Given the description of an element on the screen output the (x, y) to click on. 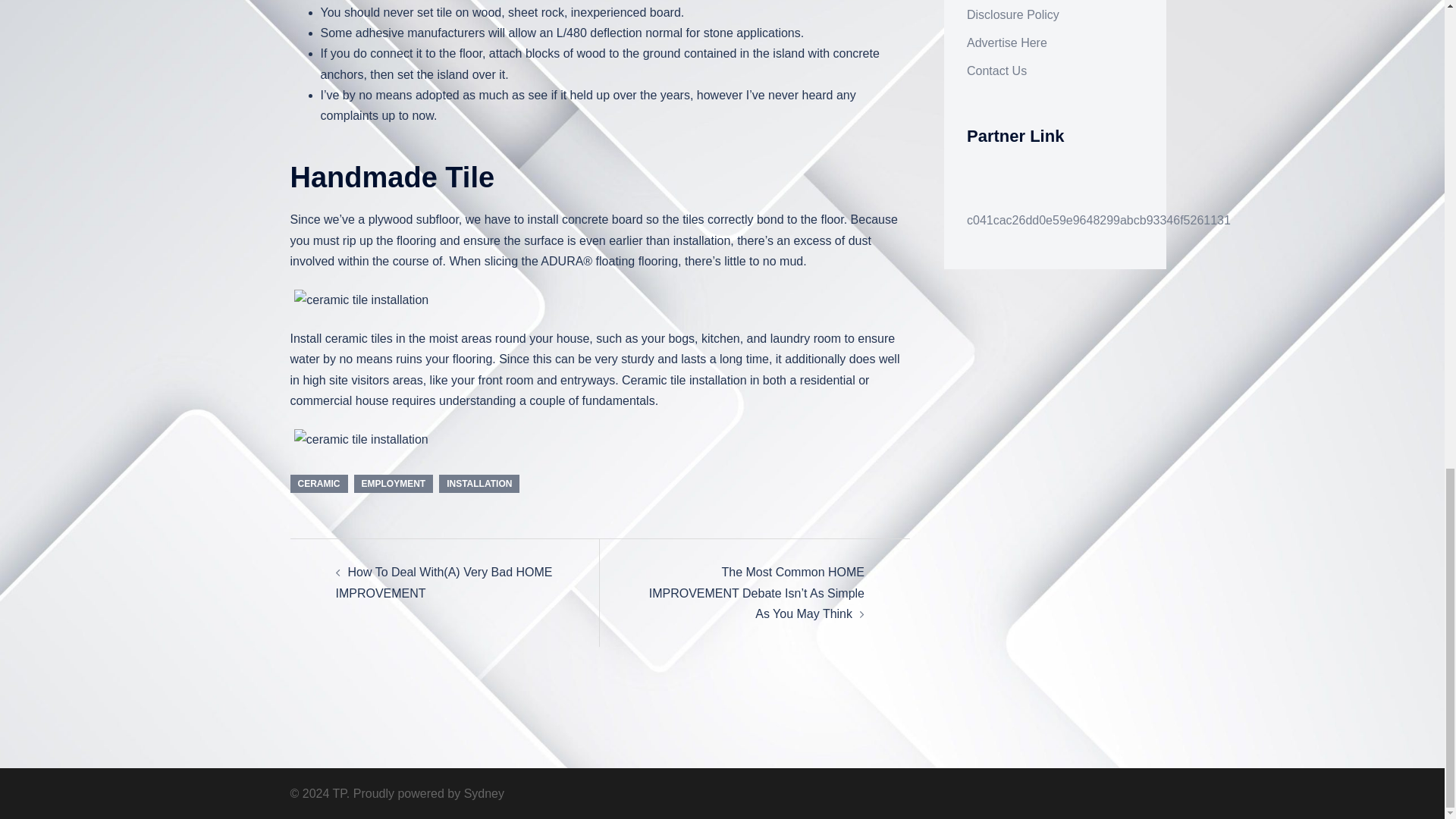
INSTALLATION (479, 484)
CERAMIC (318, 484)
EMPLOYMENT (392, 484)
